Given the description of an element on the screen output the (x, y) to click on. 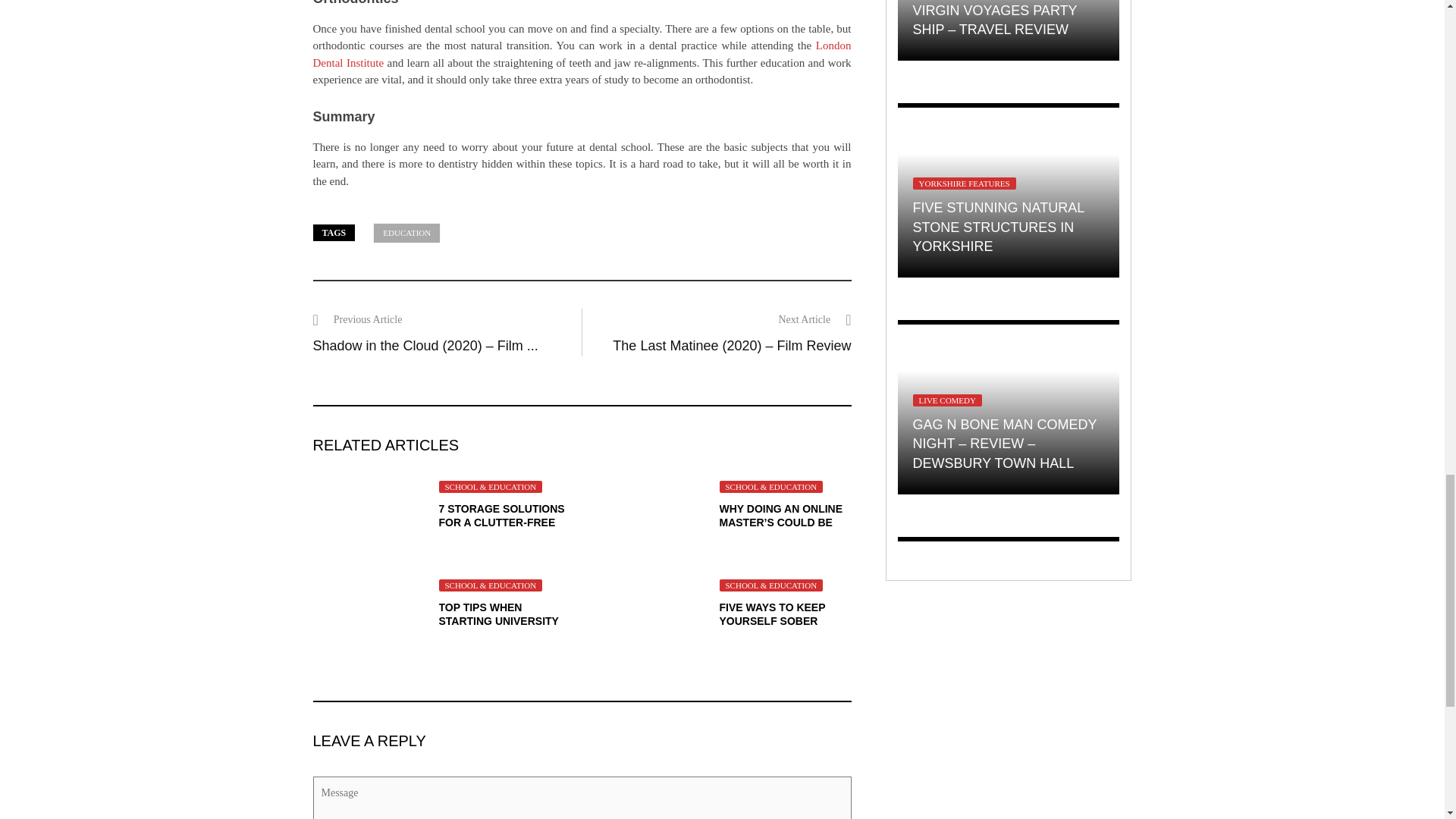
View all posts tagged Education (406, 232)
